Given the description of an element on the screen output the (x, y) to click on. 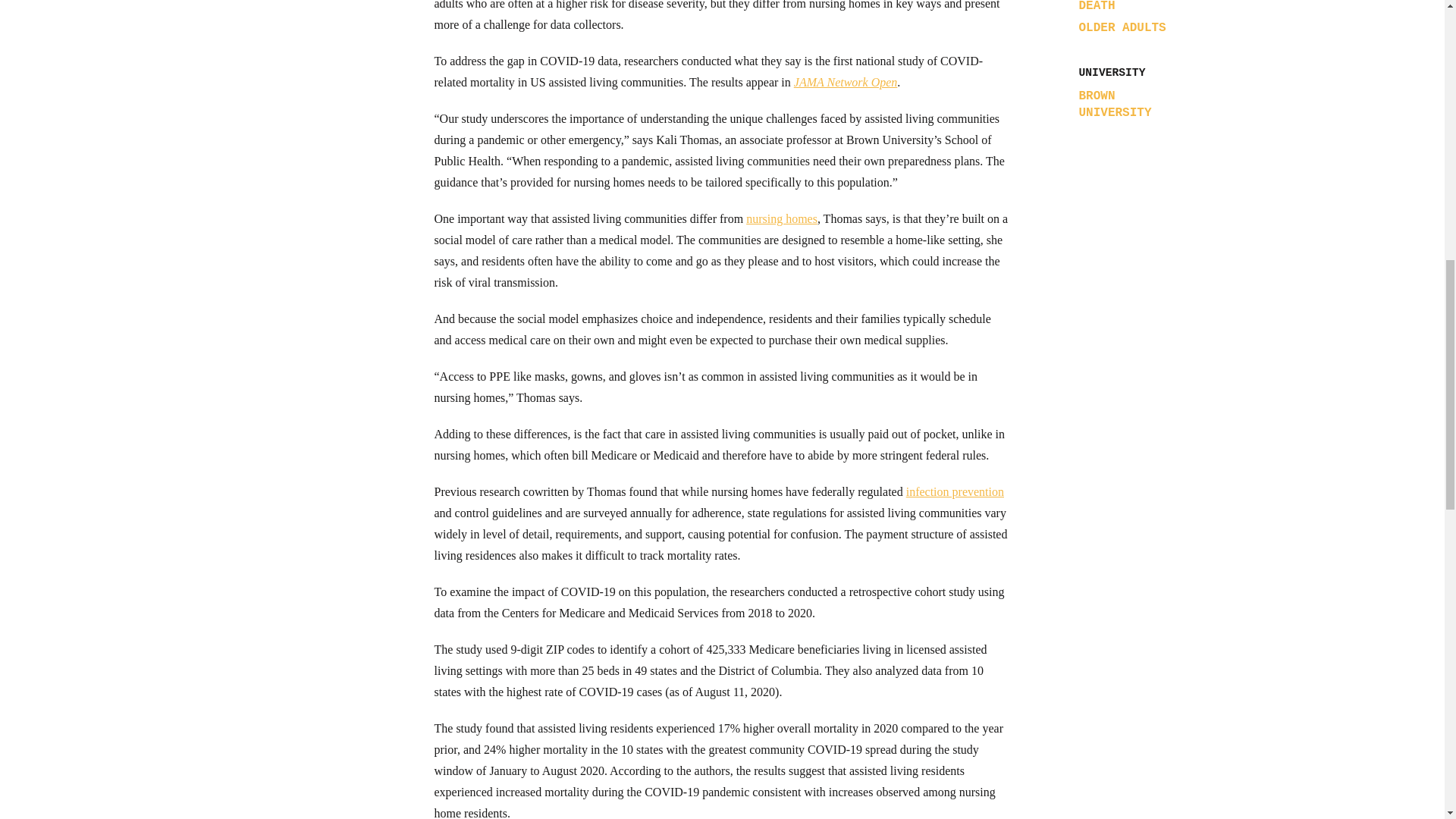
BROWN UNIVERSITY (1135, 104)
DEATH (1096, 6)
JAMA Network Open (845, 82)
OLDER ADULTS (1122, 28)
